Given the description of an element on the screen output the (x, y) to click on. 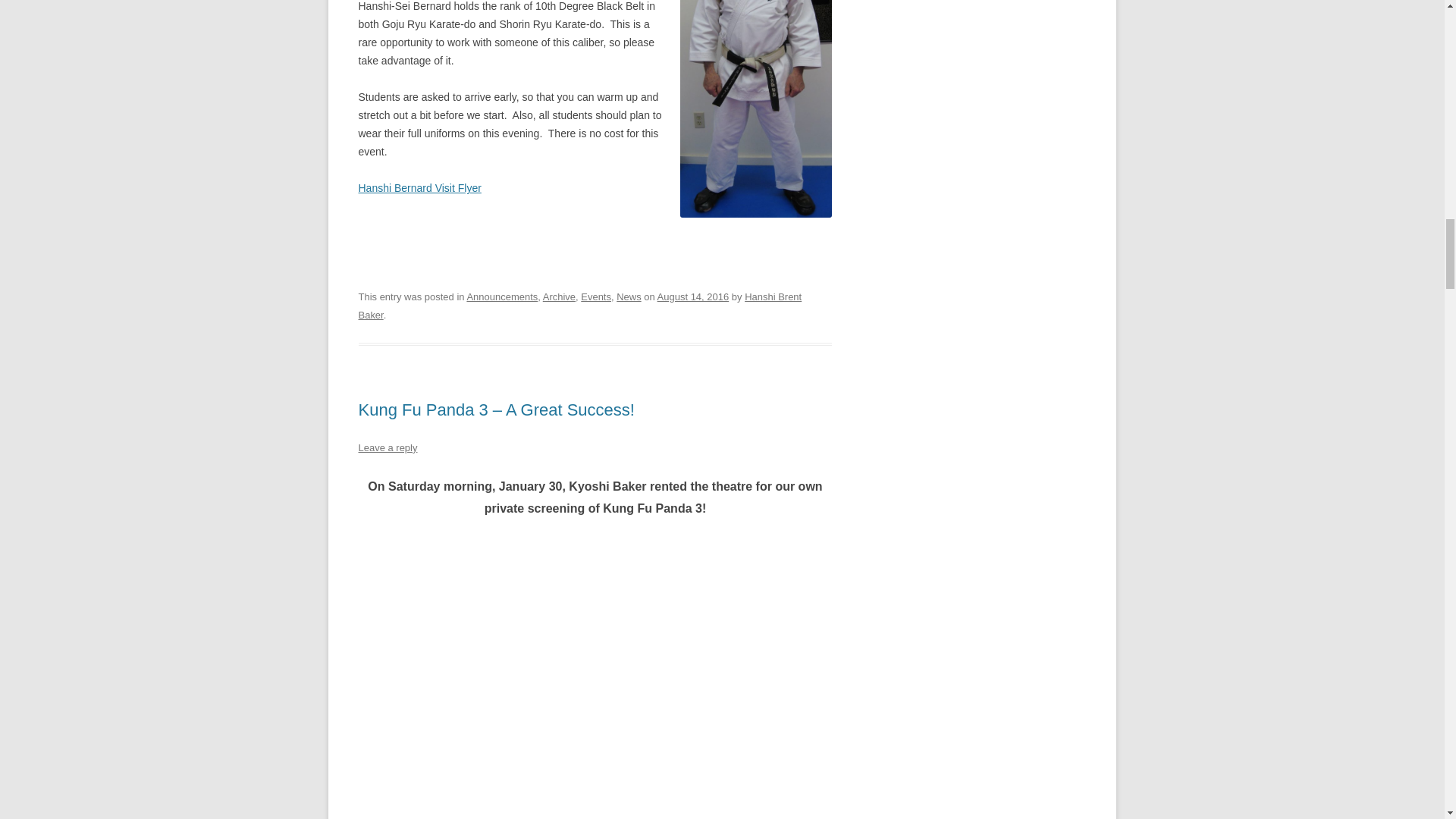
View all posts by Hanshi Brent Baker (580, 306)
2:25 pm (693, 296)
